Given the description of an element on the screen output the (x, y) to click on. 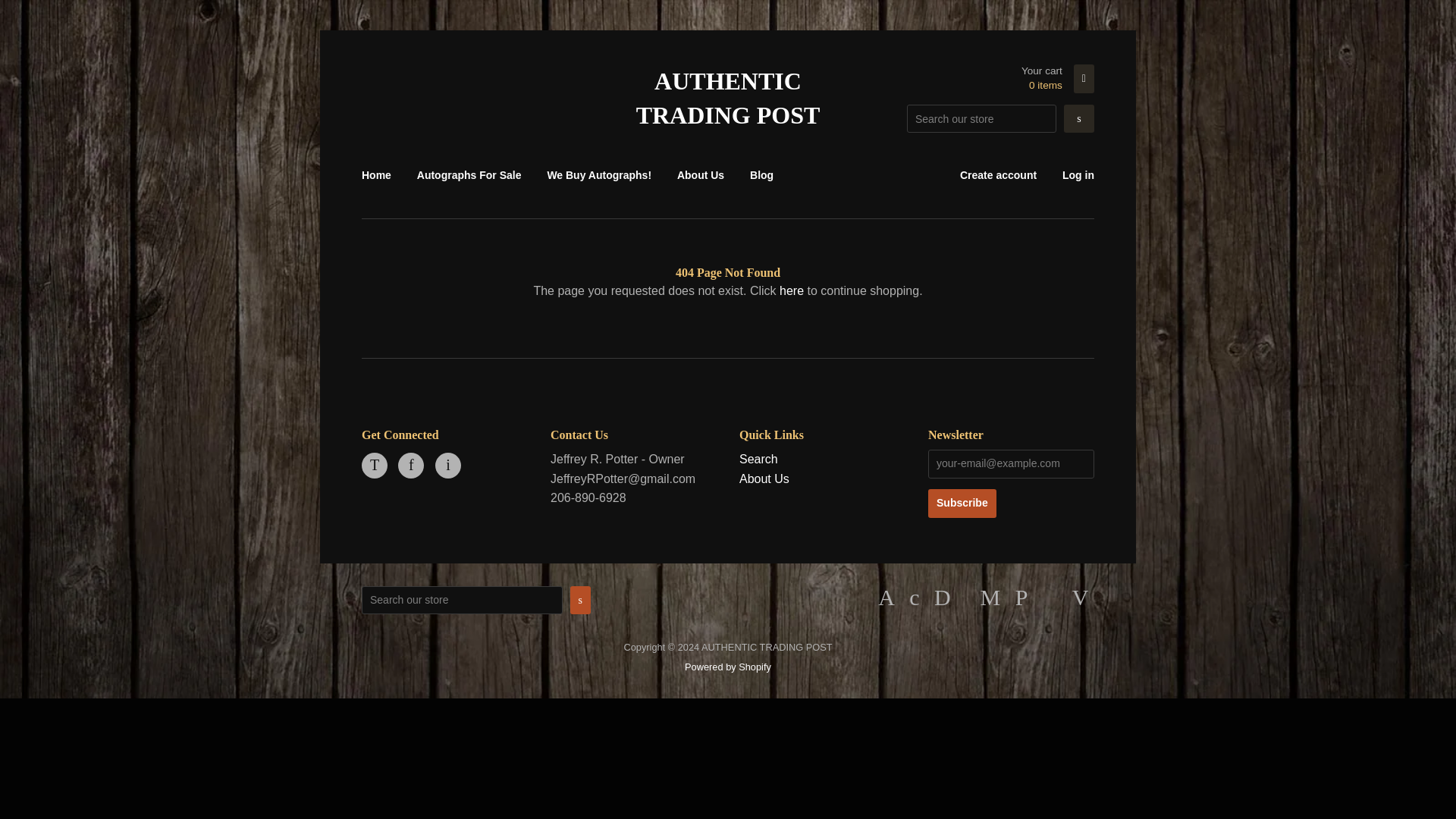
AUTHENTIC TRADING POST on Twitter (374, 465)
Search (1079, 118)
AUTHENTIC TRADING POST on Facebook (410, 465)
About Us (700, 174)
We Buy Autographs! (598, 174)
Twitter (374, 465)
Search (758, 459)
Instagram (448, 465)
Create account (998, 174)
AUTHENTIC TRADING POST (727, 98)
